Given the description of an element on the screen output the (x, y) to click on. 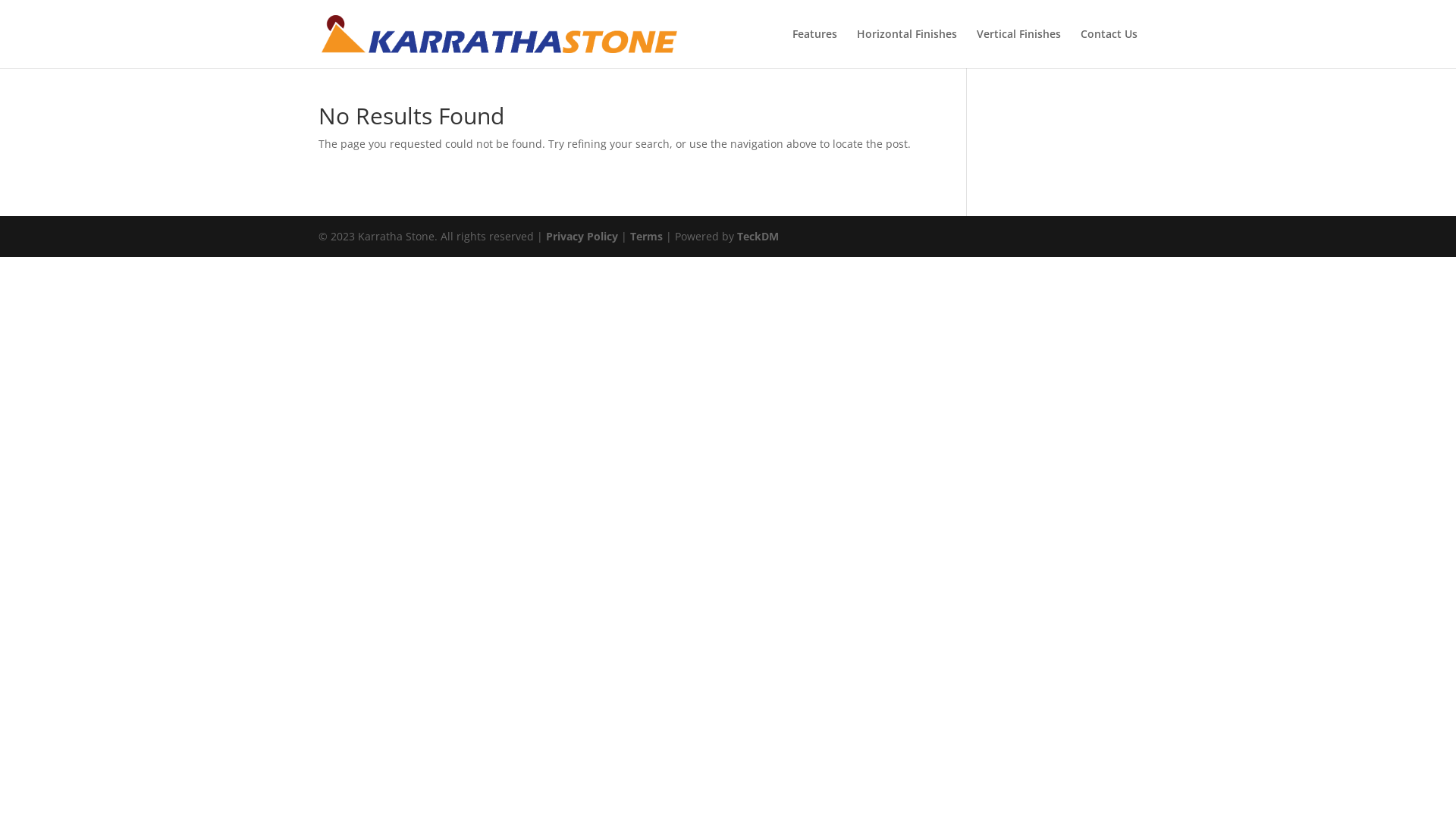
Horizontal Finishes Element type: text (906, 48)
Contact Us Element type: text (1108, 48)
Terms Element type: text (646, 236)
Privacy Policy Element type: text (582, 236)
TeckDM Element type: text (757, 236)
Features Element type: text (814, 48)
Vertical Finishes Element type: text (1018, 48)
